Given the description of an element on the screen output the (x, y) to click on. 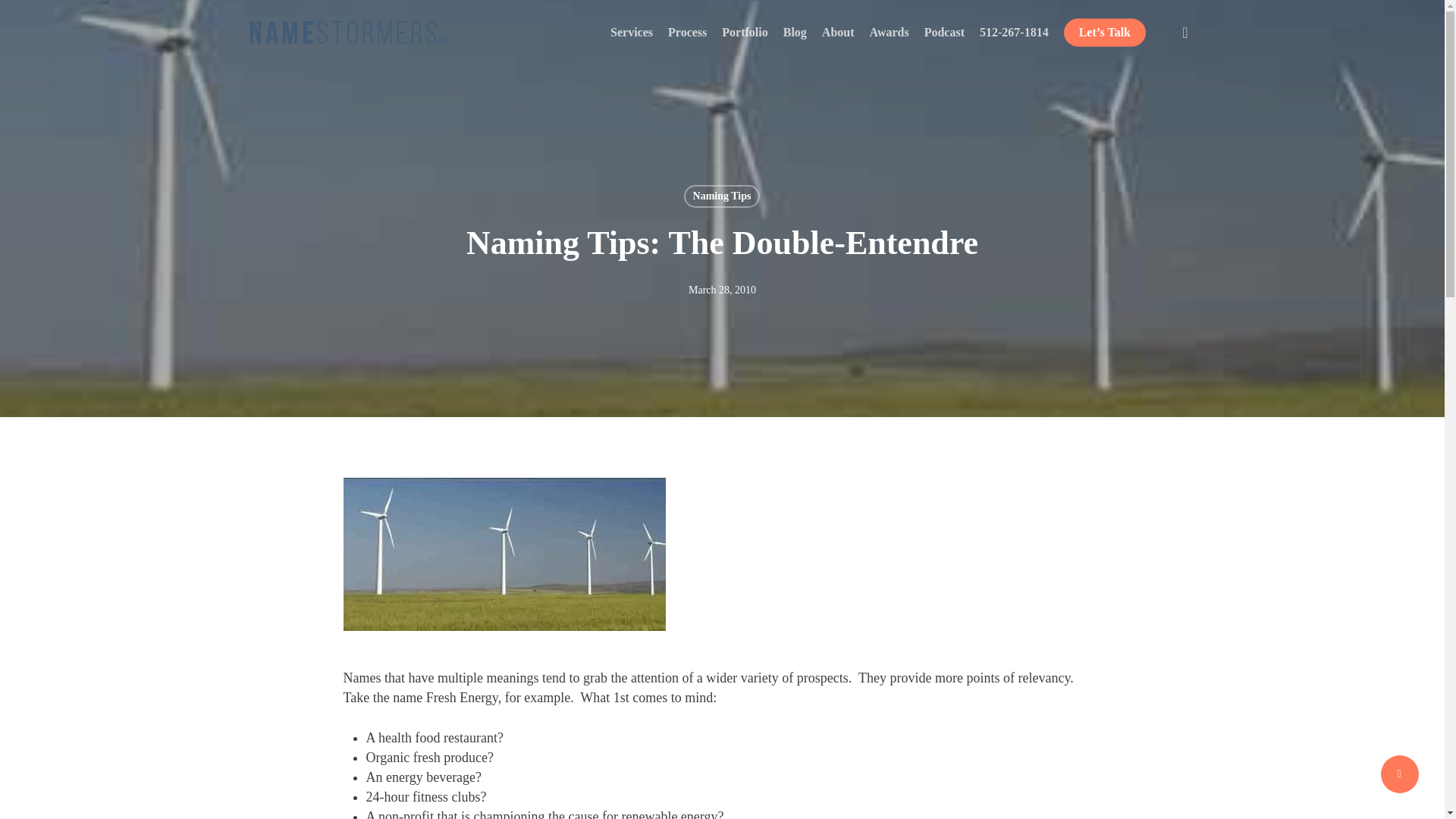
512-267-1814 (1013, 32)
Awards (888, 32)
Services (631, 32)
search (1184, 32)
Naming Tips (722, 196)
About (838, 32)
Podcast (943, 32)
Blog (794, 32)
Portfolio (744, 32)
Process (687, 32)
